Given the description of an element on the screen output the (x, y) to click on. 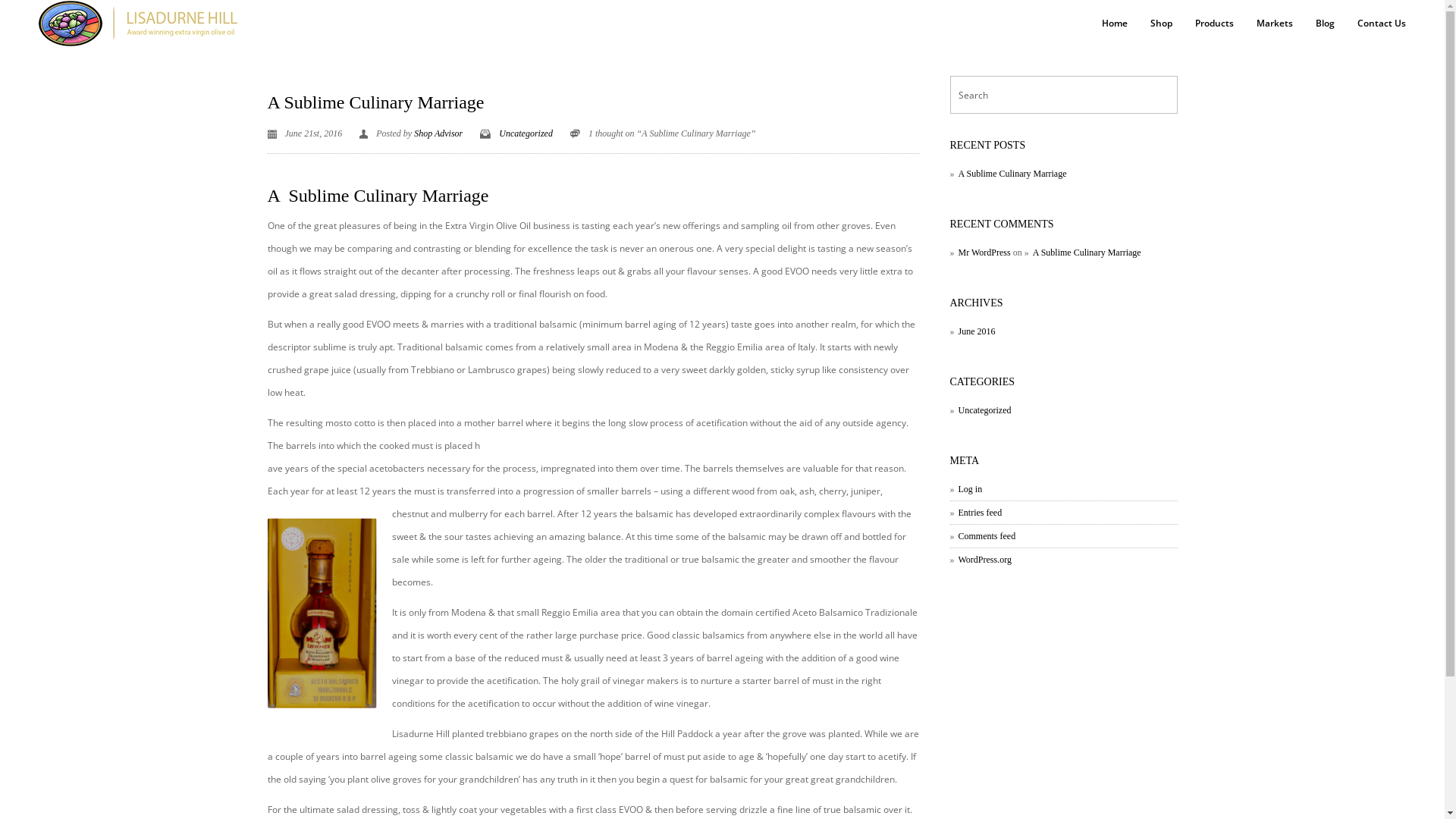
Log in Element type: text (965, 488)
Products Element type: text (1214, 23)
WordPress.org Element type: text (979, 559)
Mr WordPress Element type: text (979, 252)
Uncategorized Element type: text (525, 133)
Comments feed Element type: text (982, 535)
Contact Us Element type: text (1381, 23)
Shop Advisor Element type: text (438, 133)
Blog Element type: text (1325, 23)
June 2016 Element type: text (971, 331)
Shop Element type: text (1161, 23)
A Sublime Culinary Marriage Element type: text (1082, 252)
Uncategorized Element type: text (979, 409)
Markets Element type: text (1274, 23)
A Sublime Culinary Marriage Element type: text (374, 102)
Home Element type: text (1114, 23)
A Sublime Culinary Marriage Element type: text (1007, 173)
Search Element type: text (16, 12)
Entries feed Element type: text (975, 512)
